Given the description of an element on the screen output the (x, y) to click on. 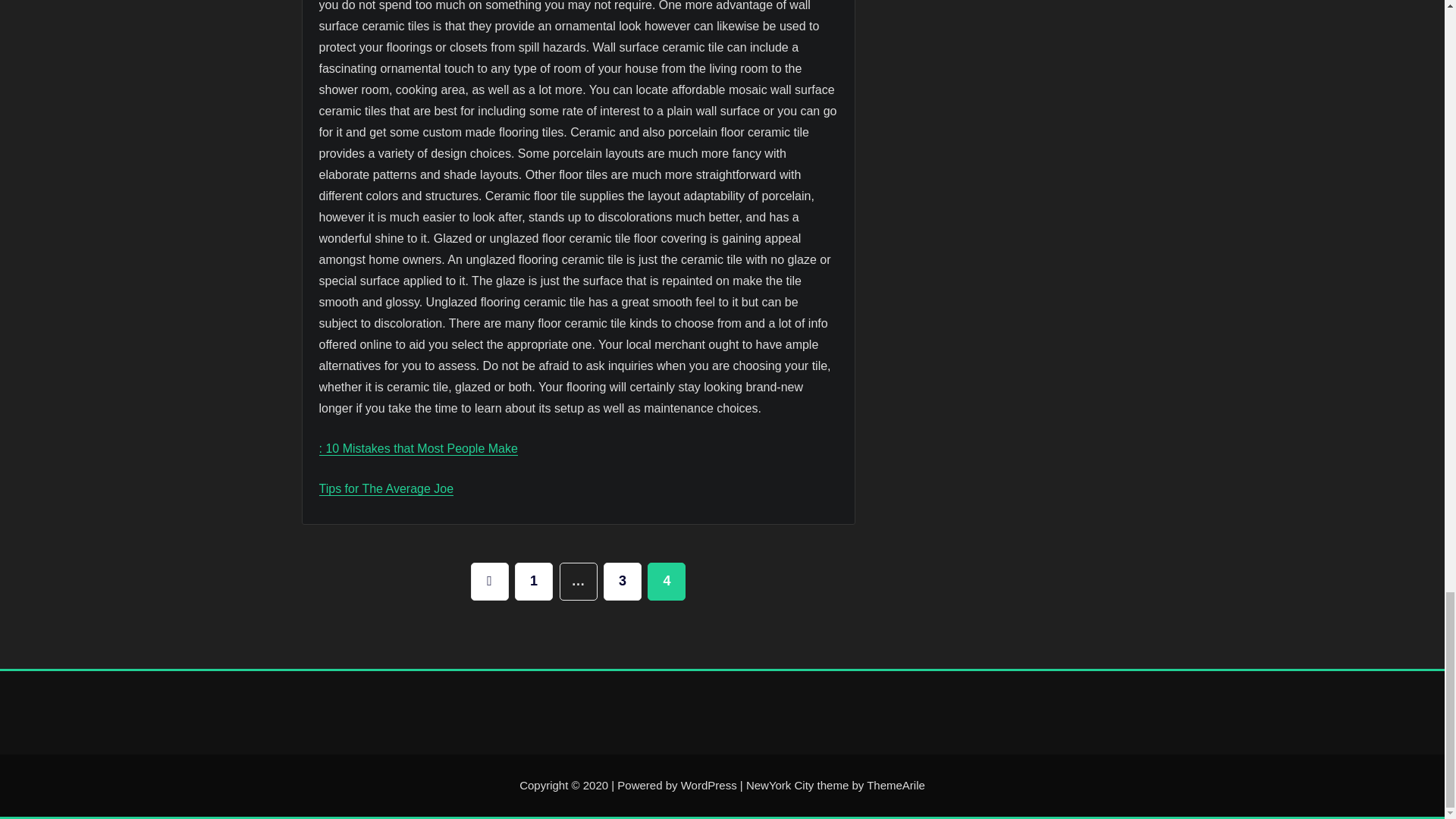
Tips for The Average Joe (385, 488)
: 10 Mistakes that Most People Make (417, 448)
1 (534, 581)
3 (623, 581)
